Given the description of an element on the screen output the (x, y) to click on. 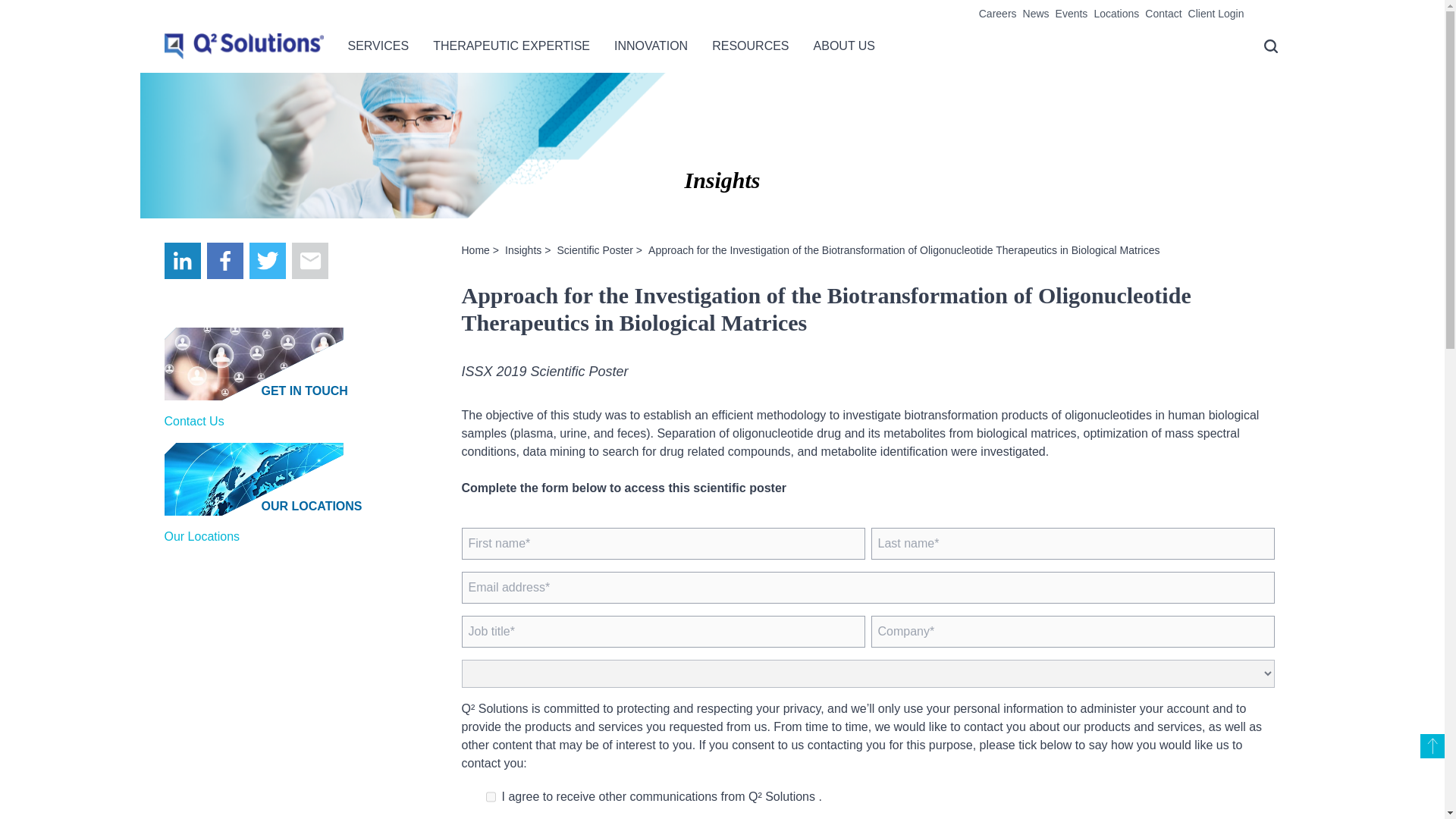
THERAPEUTIC EXPERTISE (510, 54)
Careers (997, 13)
Events (1071, 13)
Locations (1115, 13)
SERVICES (378, 54)
News (1036, 13)
